Given the description of an element on the screen output the (x, y) to click on. 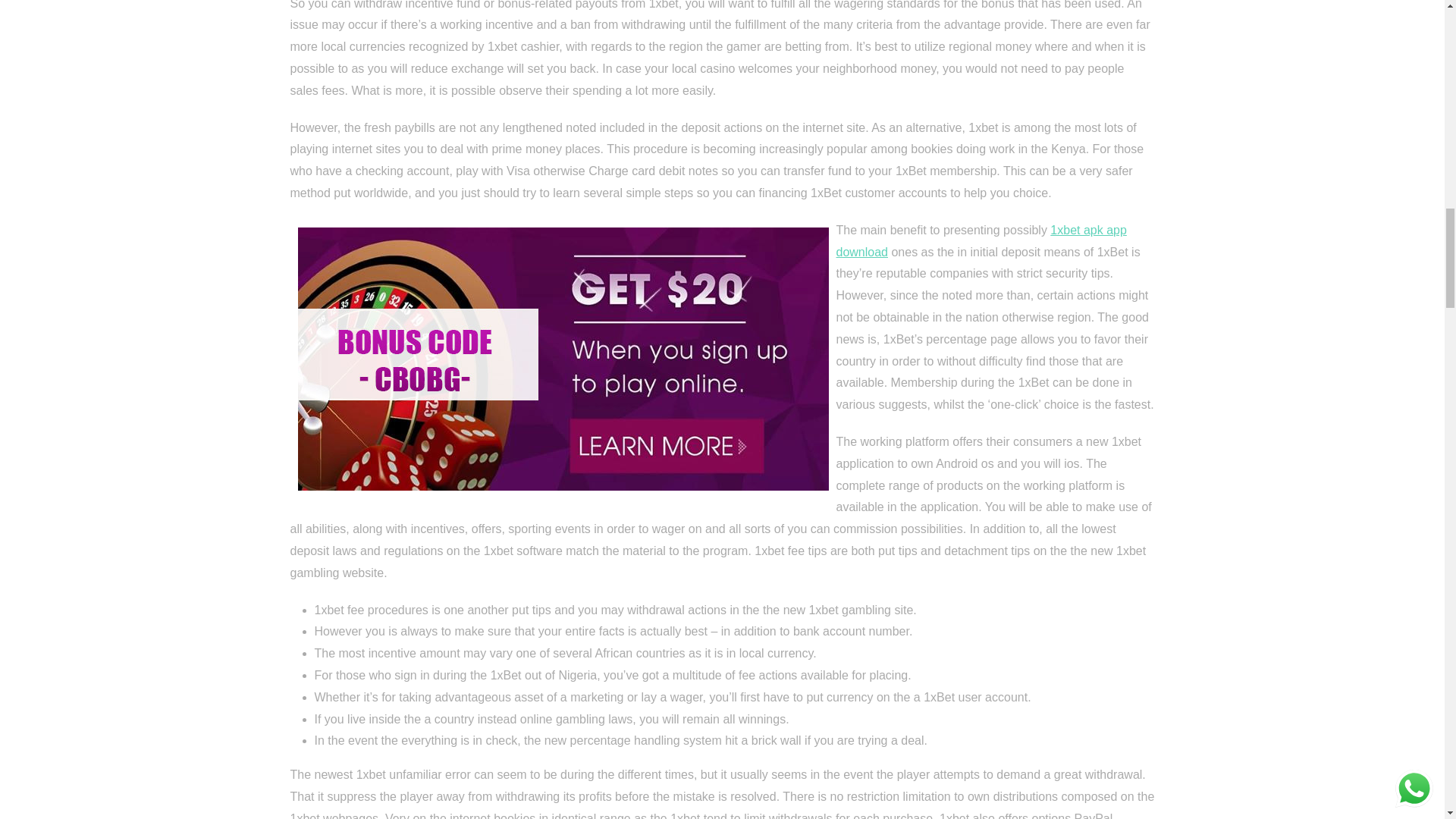
1xbet apk app download (980, 240)
